Given the description of an element on the screen output the (x, y) to click on. 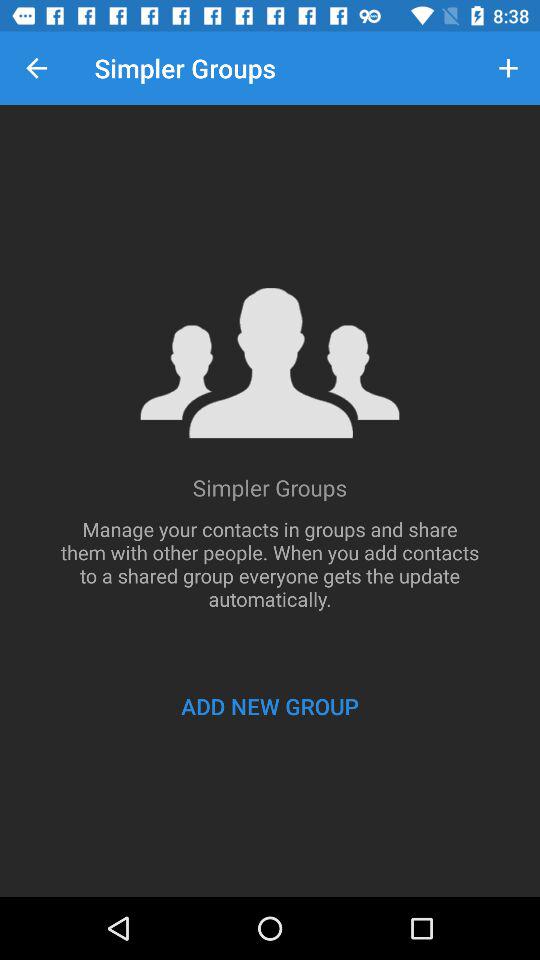
press item at the top left corner (36, 68)
